Given the description of an element on the screen output the (x, y) to click on. 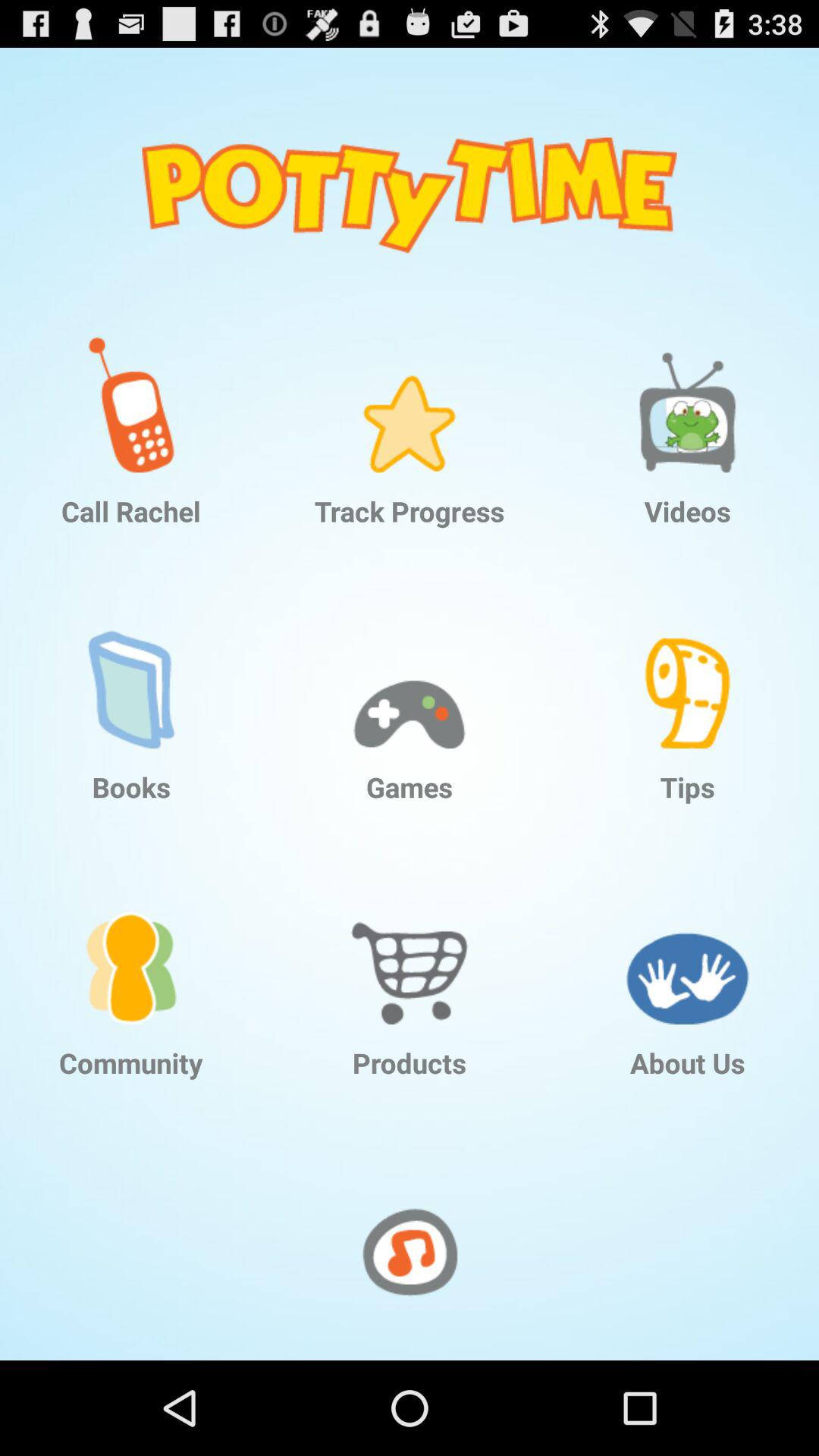
turn on app above the track progress app (409, 392)
